Given the description of an element on the screen output the (x, y) to click on. 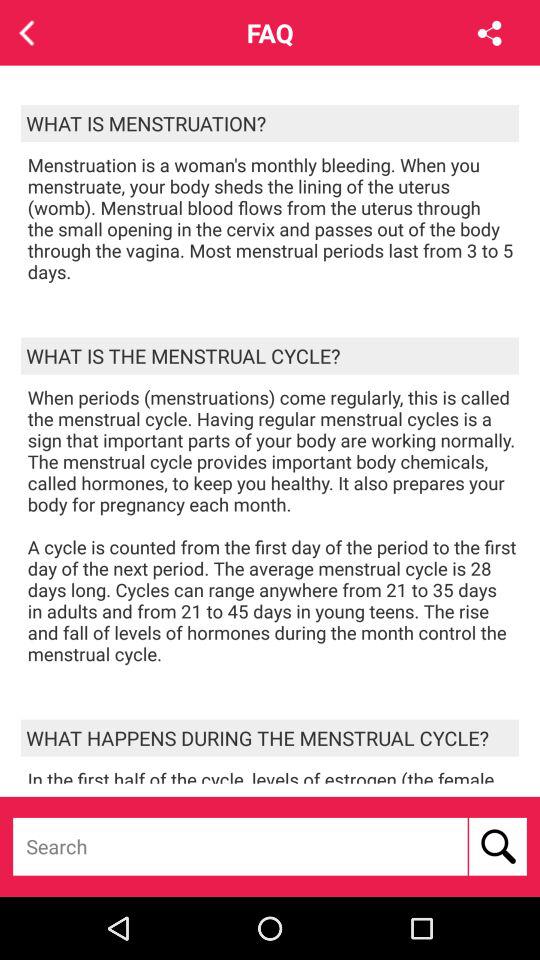
launch the icon below the when periods menstruations (270, 737)
